Given the description of an element on the screen output the (x, y) to click on. 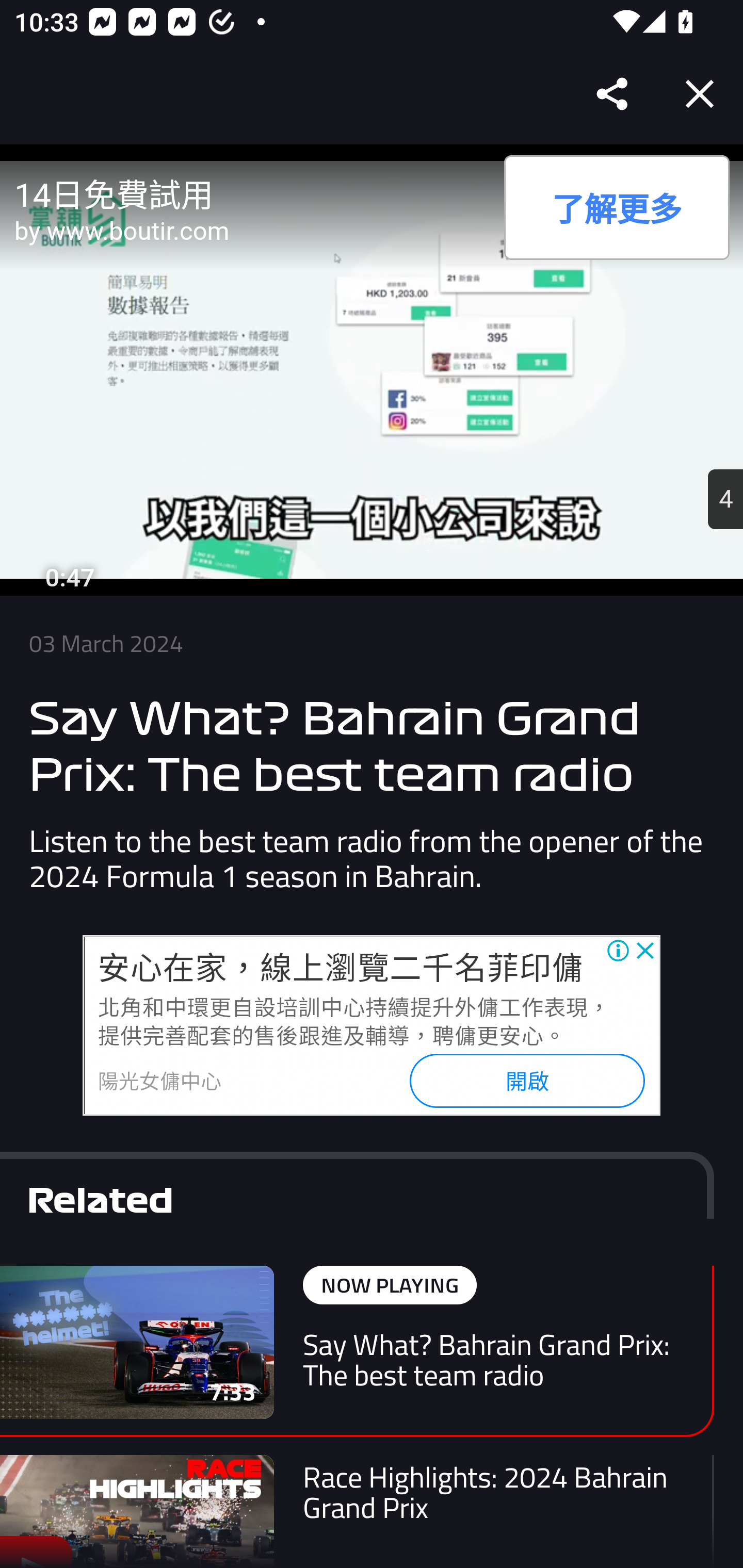
Share (612, 93)
Close (699, 93)
了解更多 (616, 207)
14日免費試用 (252, 191)
by www.boutir.com (252, 230)
0:47 (70, 577)
安心在家，線上瀏覽二千名菲印傭 (340, 966)
開啟 (526, 1080)
陽光女傭中心 (160, 1080)
7:13 Race Highlights: 2024 Bahrain Grand Prix (357, 1511)
